Given the description of an element on the screen output the (x, y) to click on. 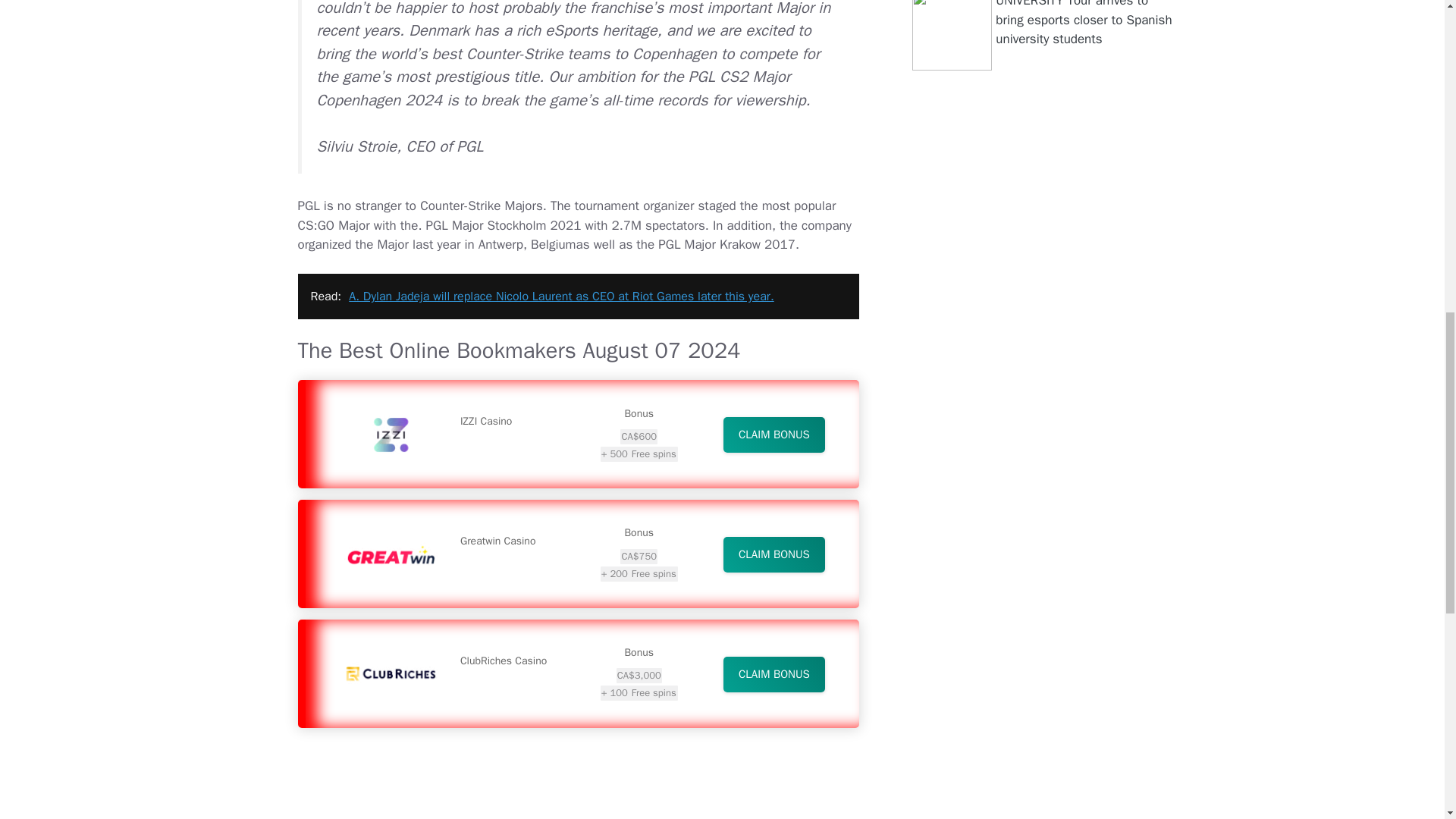
Scroll back to top (1406, 720)
